Given the description of an element on the screen output the (x, y) to click on. 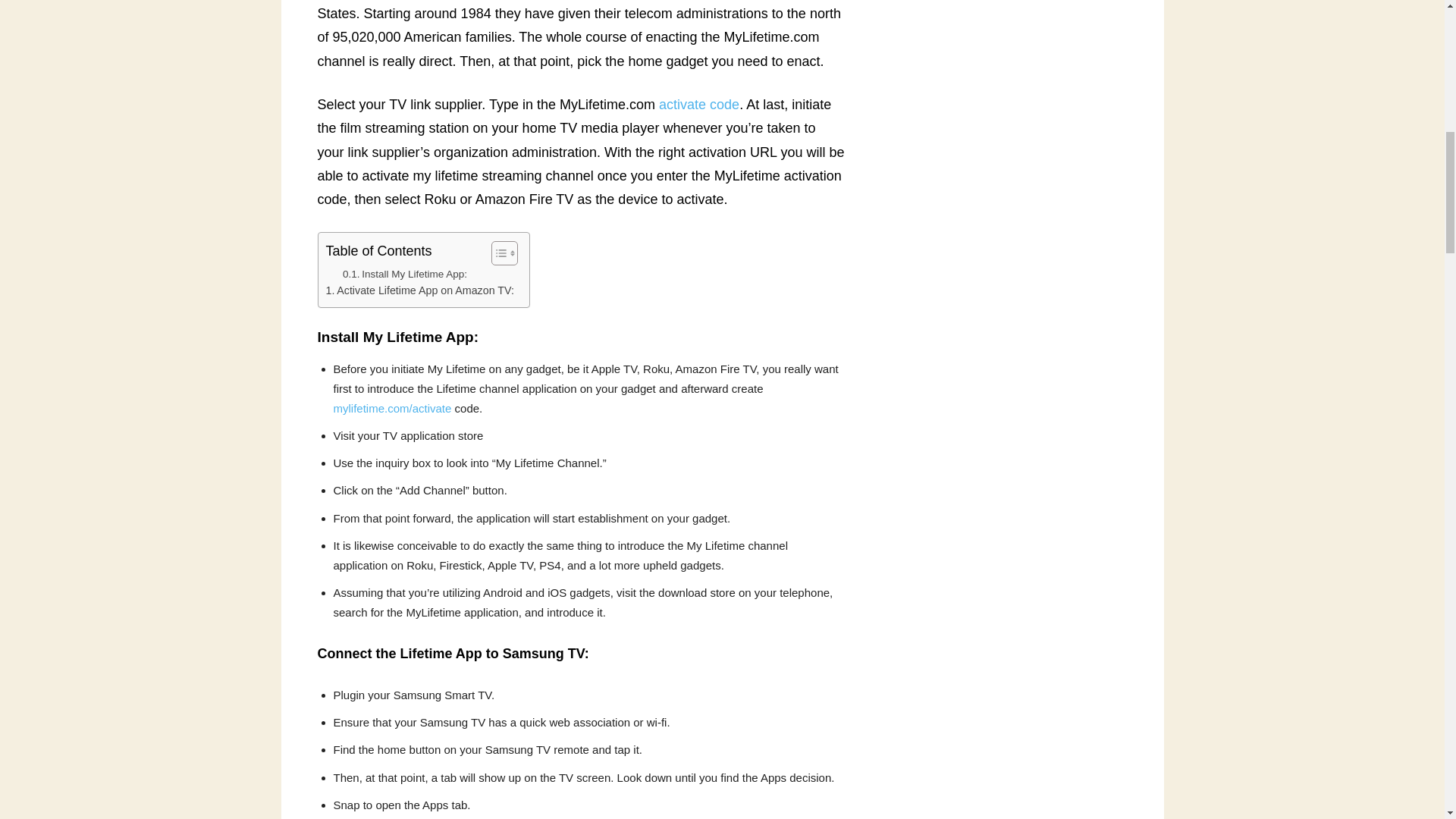
Install My Lifetime App: (404, 274)
Install My Lifetime App:  (404, 274)
activate code (699, 104)
Activate Lifetime App on Amazon TV: (419, 290)
Activate Lifetime App on Amazon TV:  (419, 290)
